Given the description of an element on the screen output the (x, y) to click on. 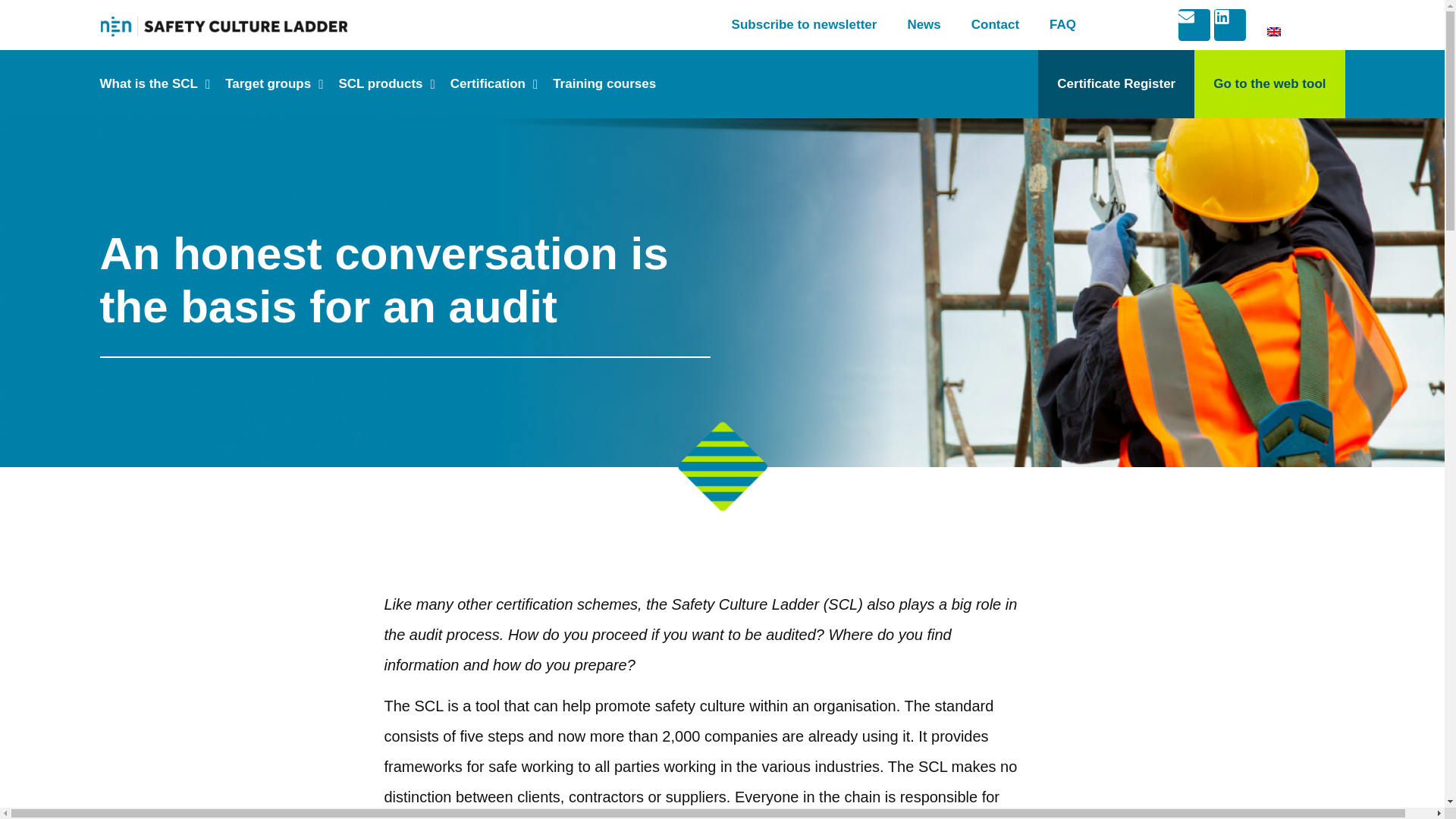
What is the SCL (155, 84)
English (1355, 32)
SCL products (386, 84)
Target groups (273, 84)
FAQ (1061, 24)
Subscribe to newsletter (804, 24)
English (1273, 31)
News (923, 24)
Contact (994, 24)
Certification (493, 84)
